Given the description of an element on the screen output the (x, y) to click on. 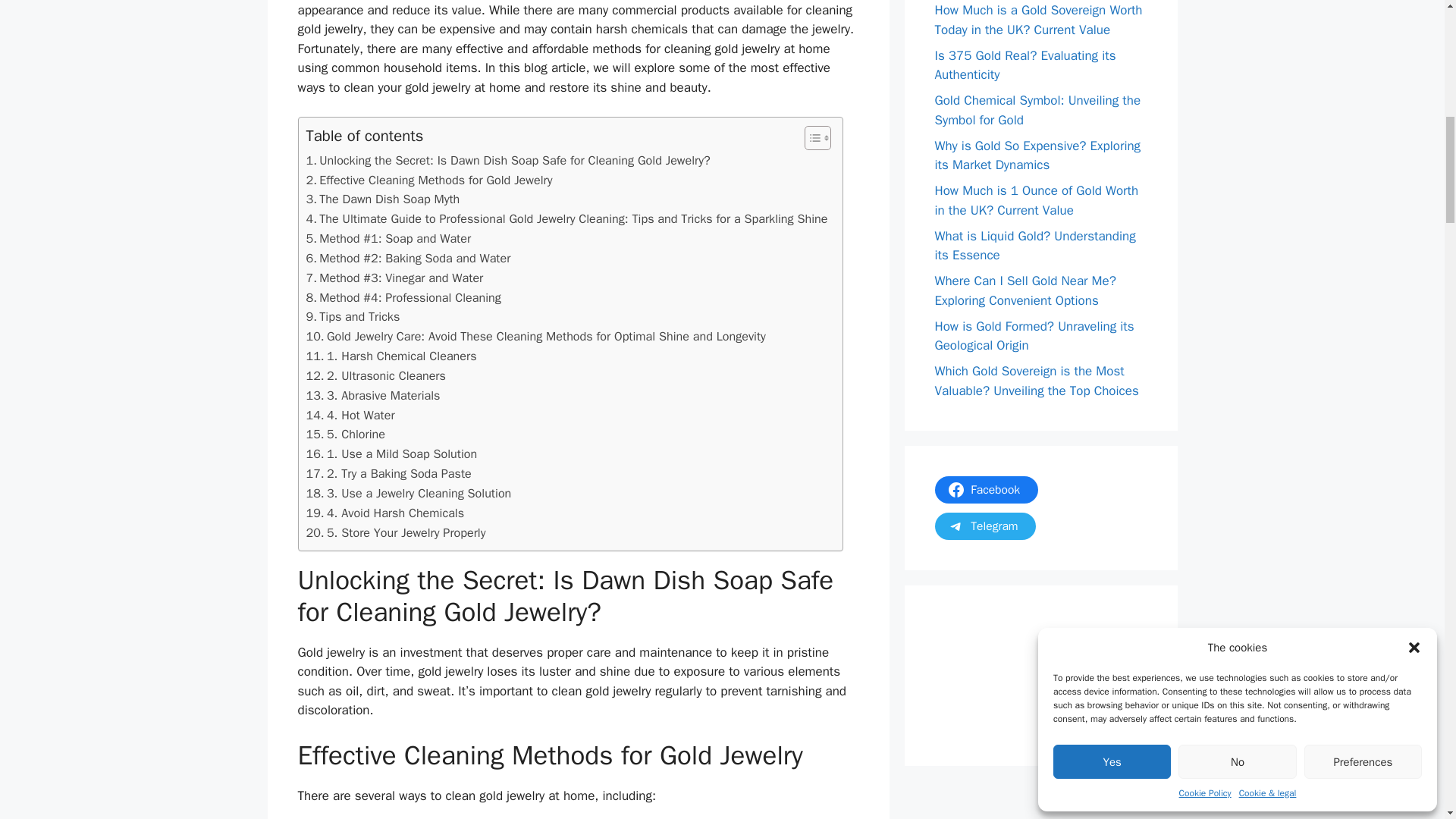
2. Try a Baking Soda Paste (388, 474)
4. Hot Water (349, 415)
3. Use a Jewelry Cleaning Solution (408, 493)
Tips and Tricks (352, 316)
Effective Cleaning Methods for Gold Jewelry (429, 180)
Tips and Tricks (352, 316)
The Dawn Dish Soap Myth (382, 199)
4. Avoid Harsh Chemicals (384, 513)
The Dawn Dish Soap Myth (382, 199)
Effective Cleaning Methods for Gold Jewelry (429, 180)
5. Chlorine (345, 434)
1. Harsh Chemical Cleaners (391, 356)
